Given the description of an element on the screen output the (x, y) to click on. 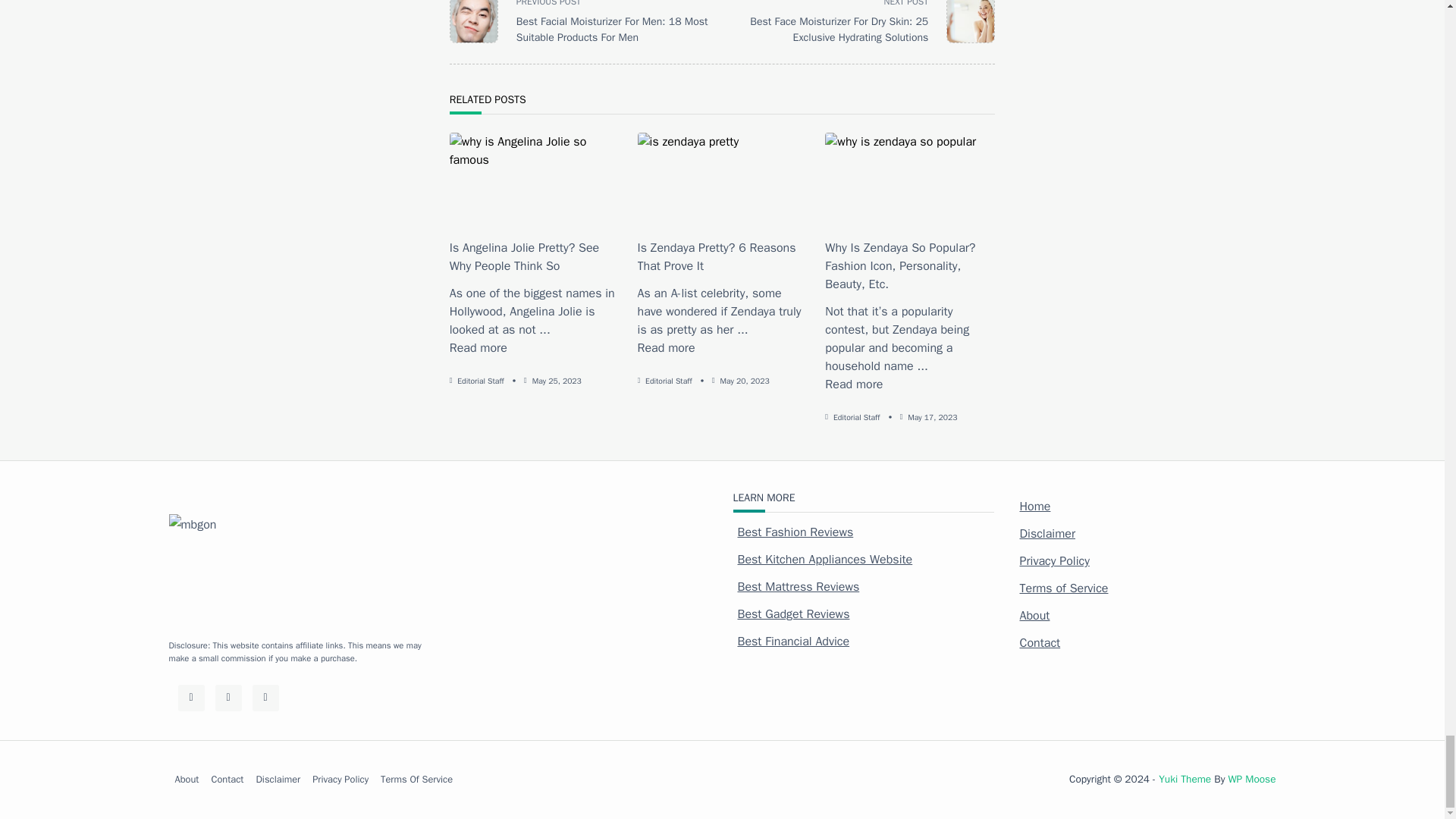
Is Angelina Jolie Pretty? See Why People Think So (477, 347)
Is Zendaya Pretty? 6 Reasons That Prove It (666, 347)
